Given the description of an element on the screen output the (x, y) to click on. 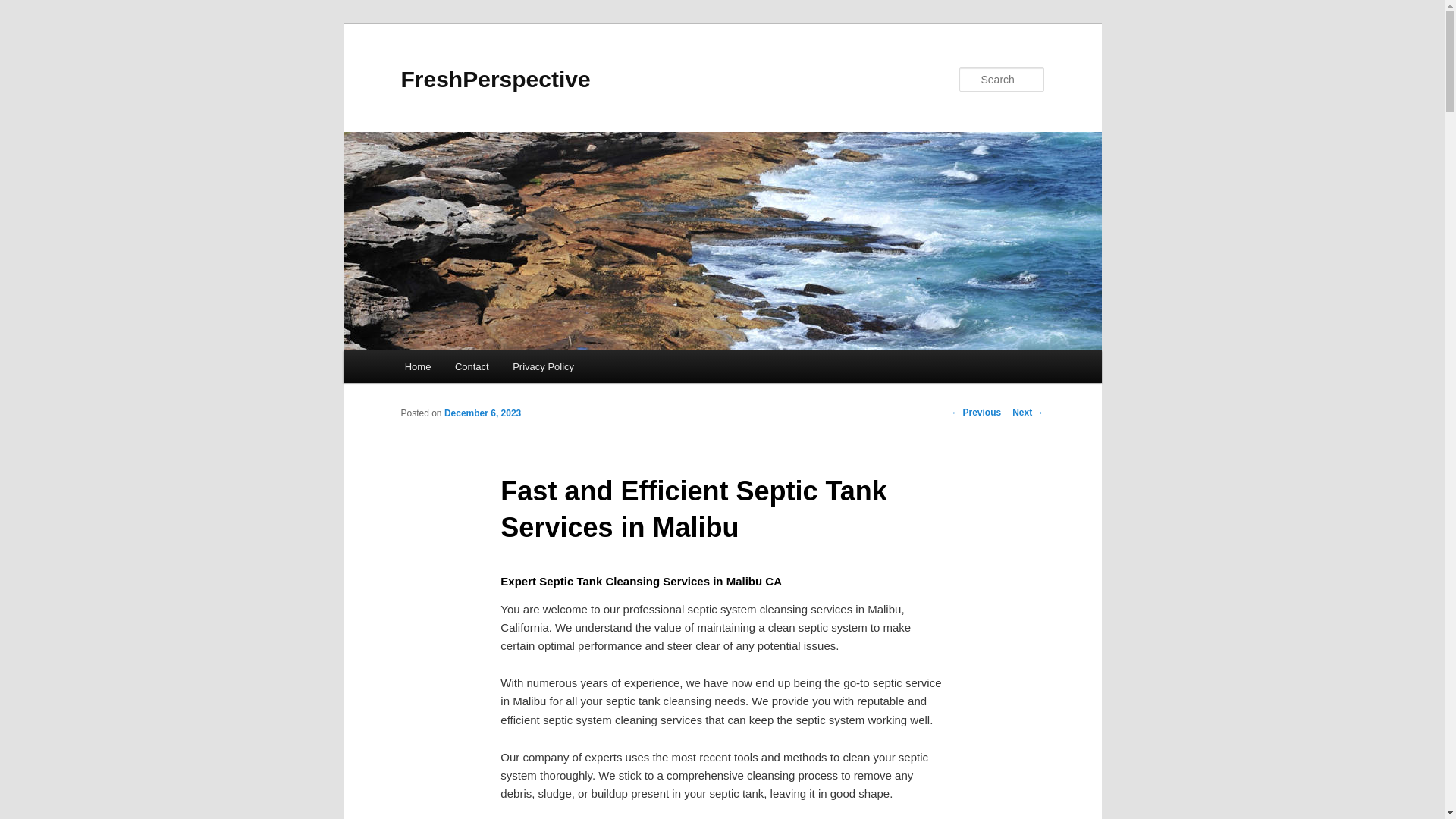
Contact (471, 366)
Home (417, 366)
FreshPerspective (494, 78)
Search (24, 8)
December 6, 2023 (482, 412)
12:00 am (482, 412)
Privacy Policy (542, 366)
